Given the description of an element on the screen output the (x, y) to click on. 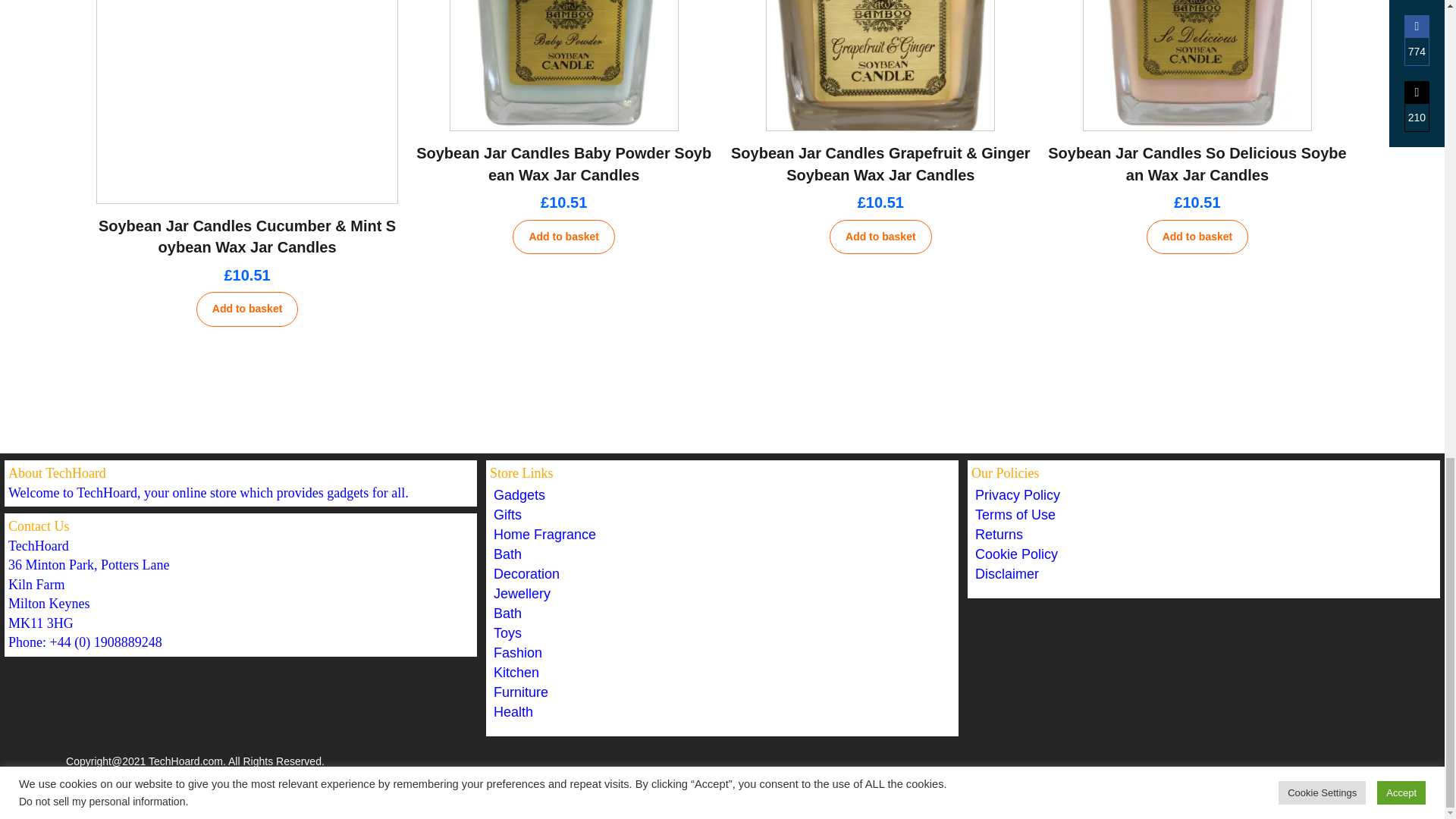
Add to basket (880, 237)
Add to basket (247, 308)
Add to basket (563, 237)
Soybean Jar Candles Baby Powder Soybean Wax Jar Candles (563, 163)
